Given the description of an element on the screen output the (x, y) to click on. 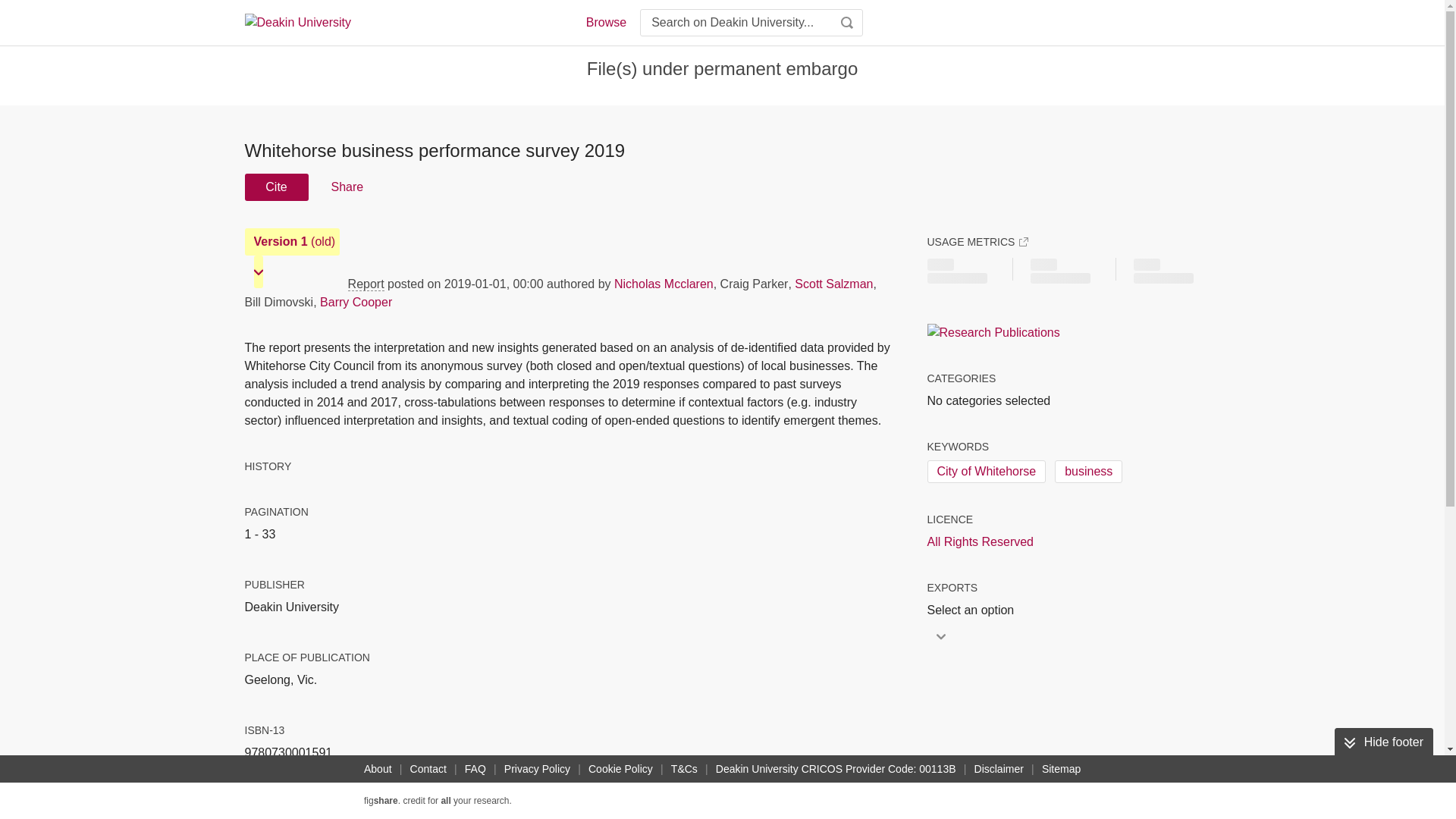
Hide footer (1383, 742)
Privacy Policy (537, 769)
Barry Cooper (355, 301)
Select an option (974, 610)
Disclaimer (998, 769)
Scott Salzman (833, 283)
All Rights Reserved (979, 542)
FAQ (475, 769)
USAGE METRICS (976, 241)
City of Whitehorse (985, 471)
